Given the description of an element on the screen output the (x, y) to click on. 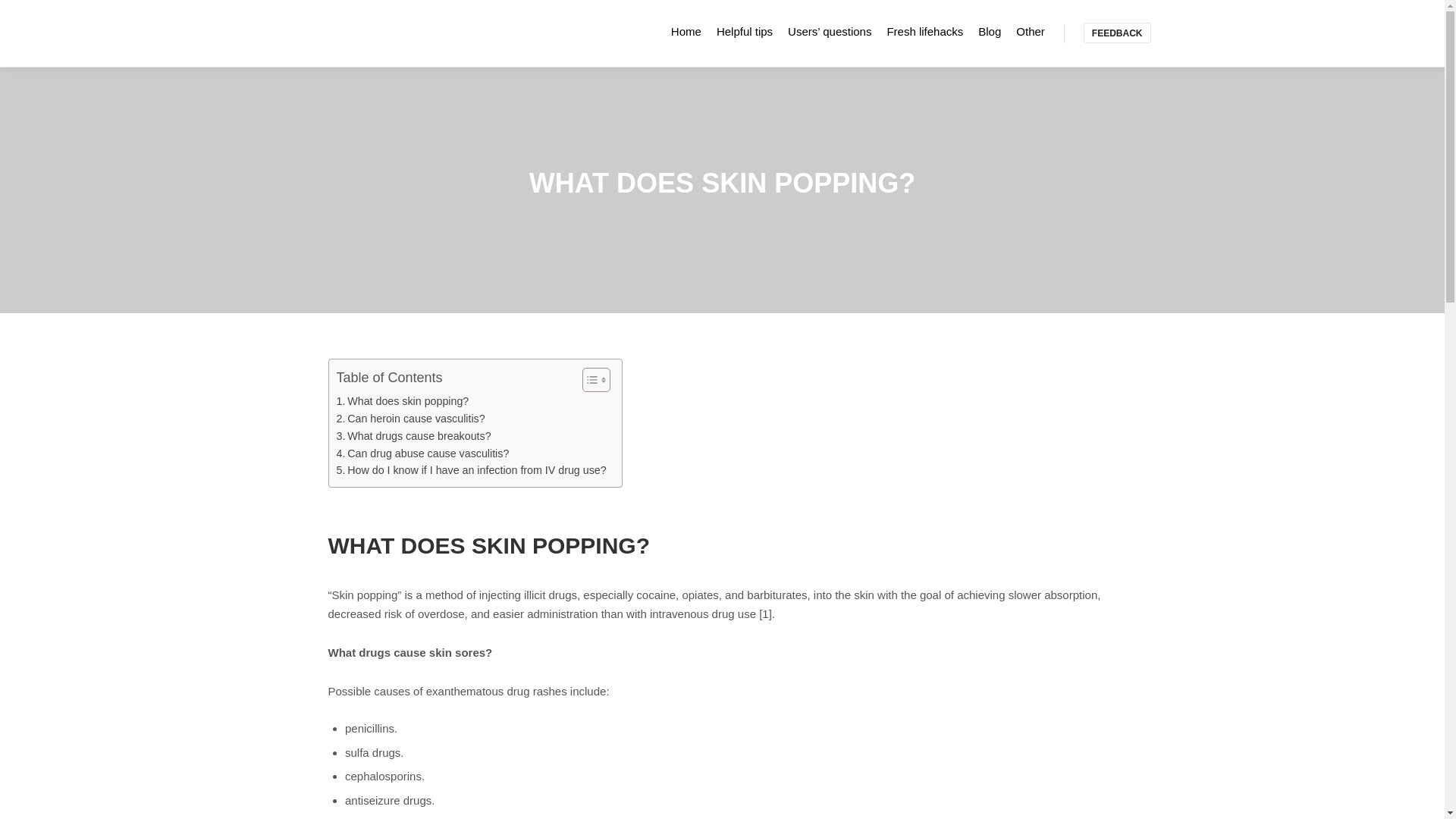
What drugs cause breakouts? (414, 436)
Can drug abuse cause vasculitis? (422, 453)
How do I know if I have an infection from IV drug use? (471, 470)
What does skin popping? (402, 401)
Fresh lifehacks (925, 31)
Helpful tips (744, 31)
Can heroin cause vasculitis? (410, 418)
Other (1030, 31)
Can drug abuse cause vasculitis? (422, 453)
Home (686, 31)
